Given the description of an element on the screen output the (x, y) to click on. 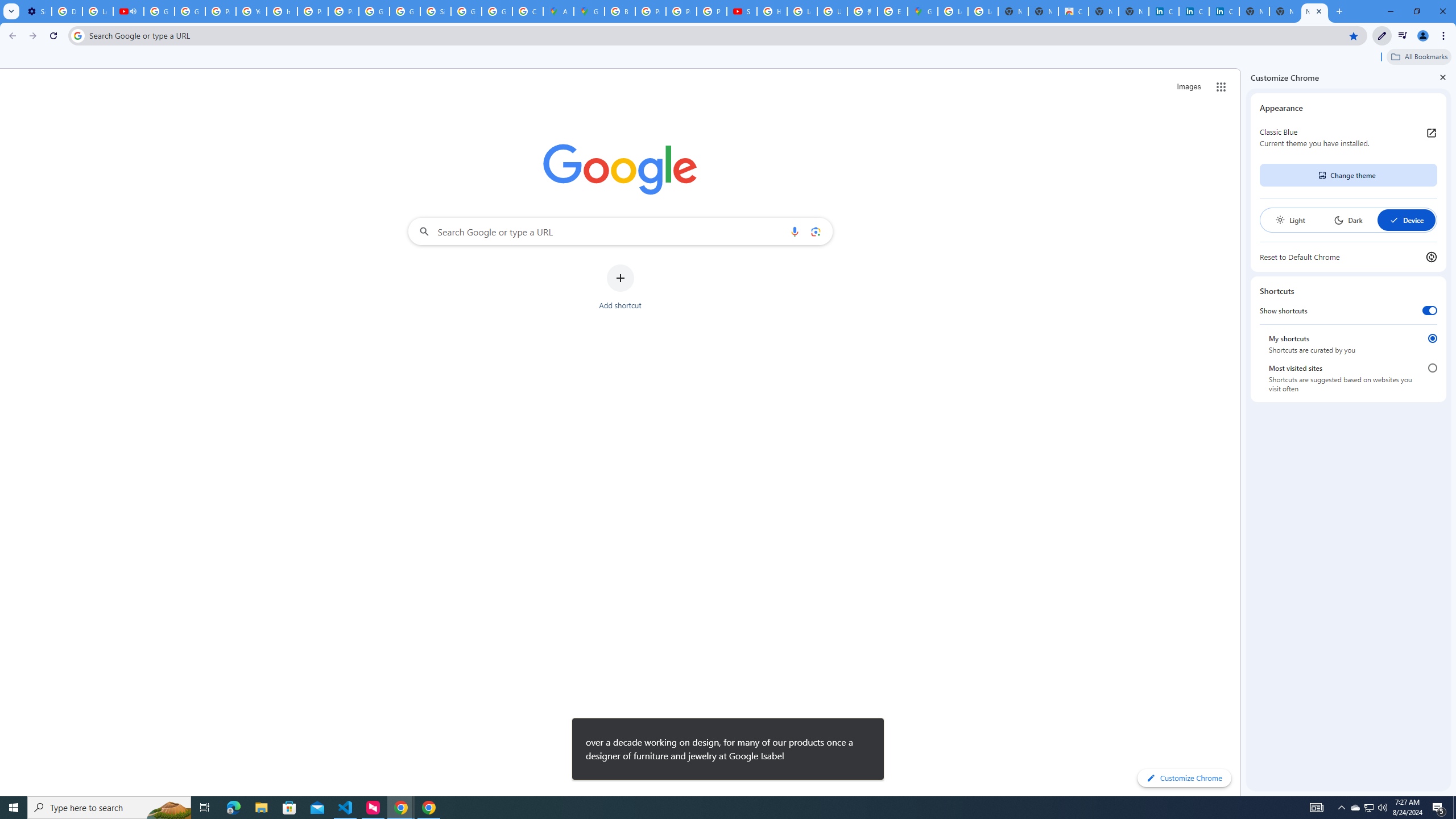
Create your Google Account (527, 11)
YouTube (251, 11)
Google Maps (922, 11)
Side Panel Resize Handle (1242, 431)
Privacy Help Center - Policies Help (220, 11)
